Given the description of an element on the screen output the (x, y) to click on. 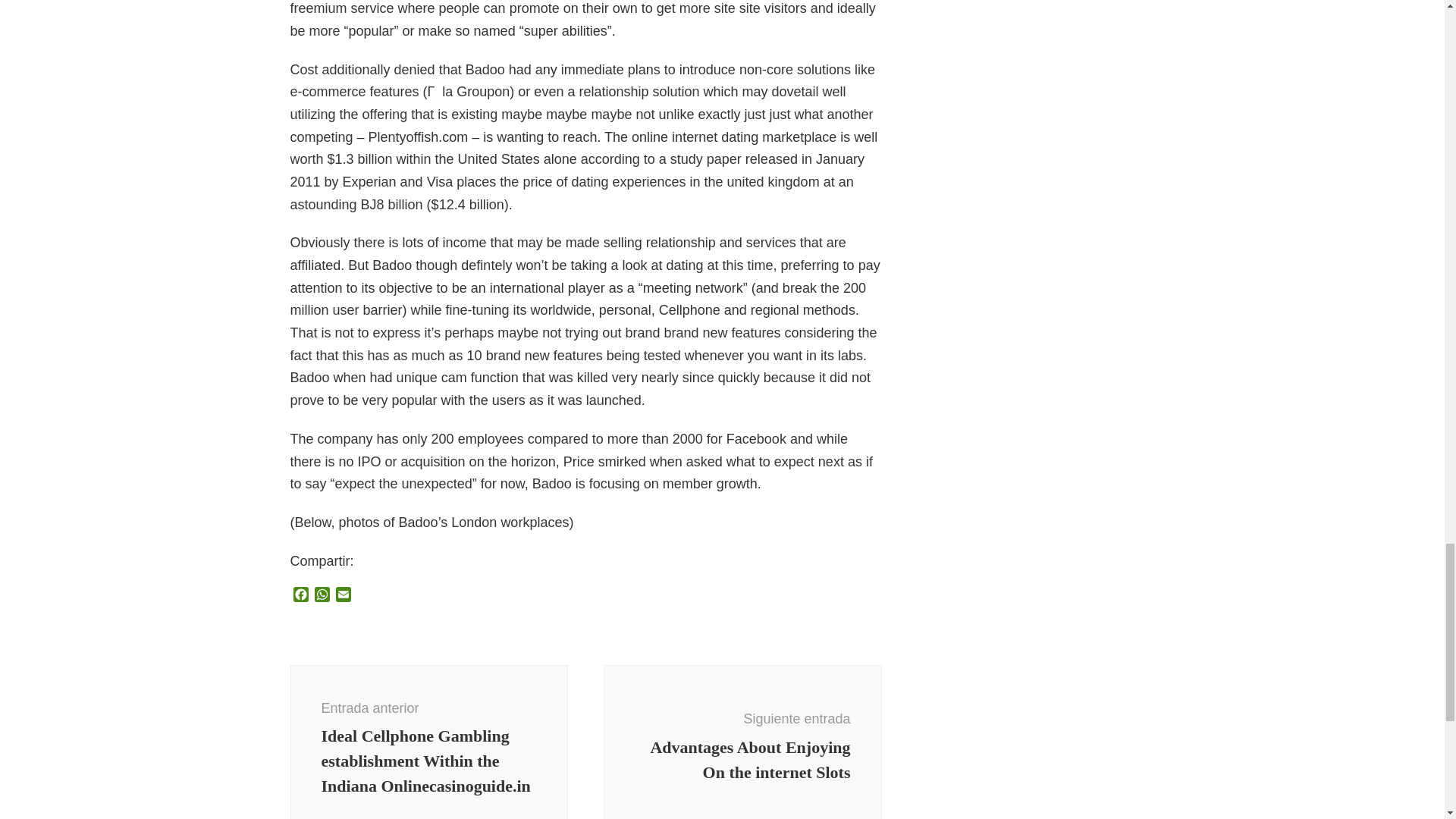
WhatsApp (321, 596)
Facebook (300, 596)
WhatsApp (321, 596)
Facebook (300, 596)
Email (342, 596)
